Given the description of an element on the screen output the (x, y) to click on. 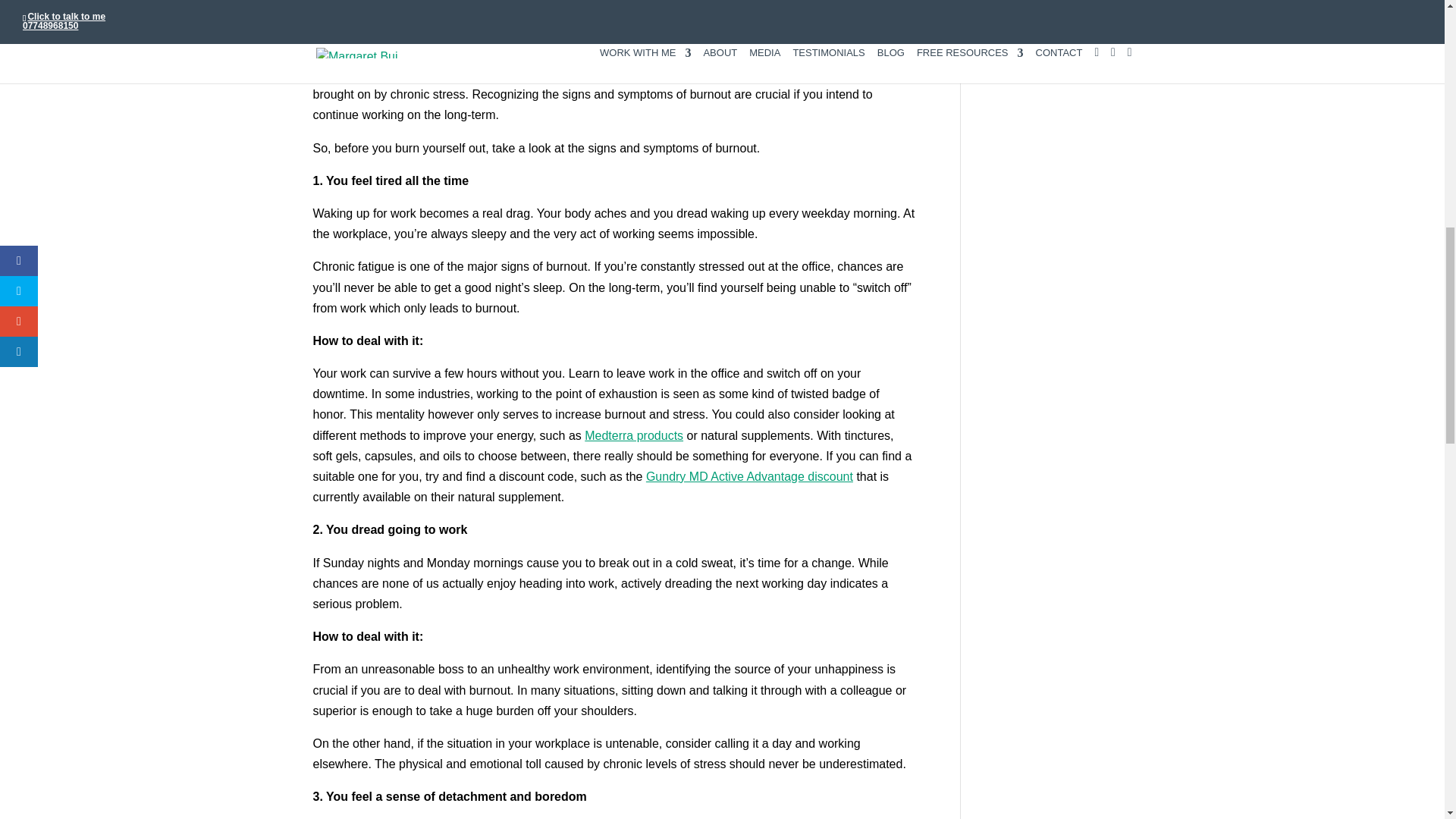
Medterra products (633, 435)
burnout (692, 73)
Gundry MD Active Advantage discount (749, 476)
brownout phase (469, 2)
